Given the description of an element on the screen output the (x, y) to click on. 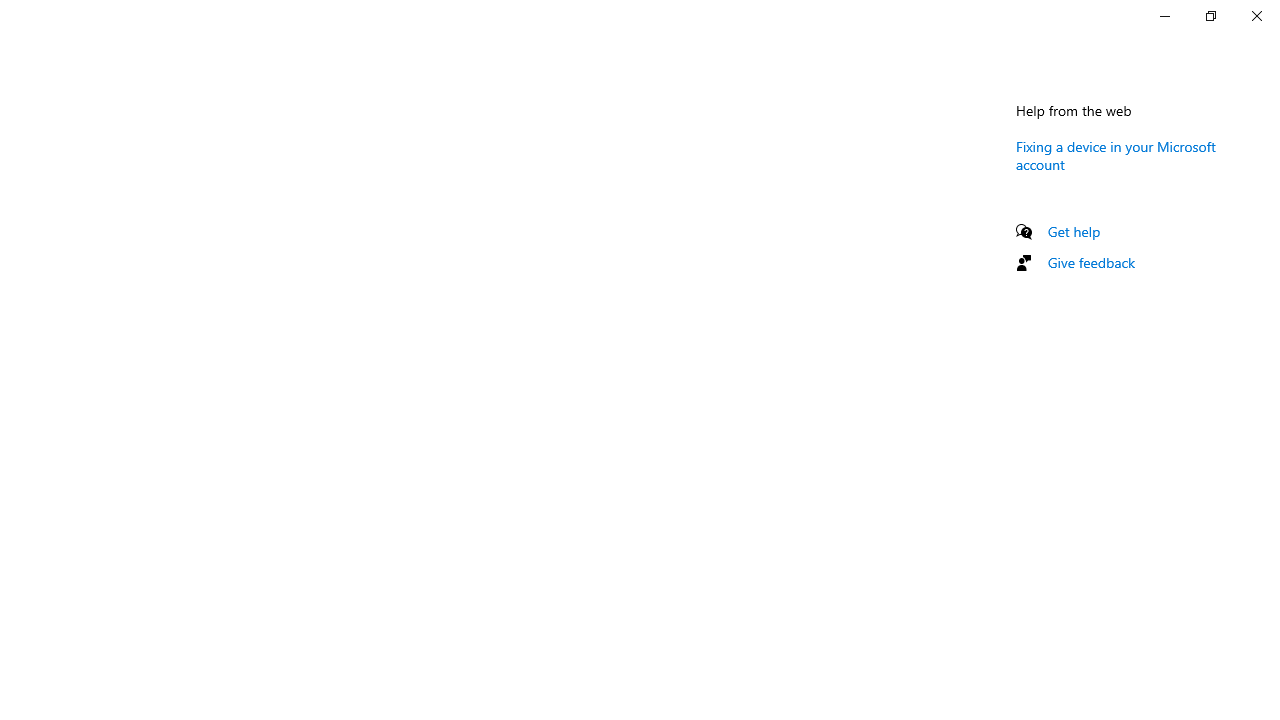
Fixing a device in your Microsoft account (1116, 155)
